Given the description of an element on the screen output the (x, y) to click on. 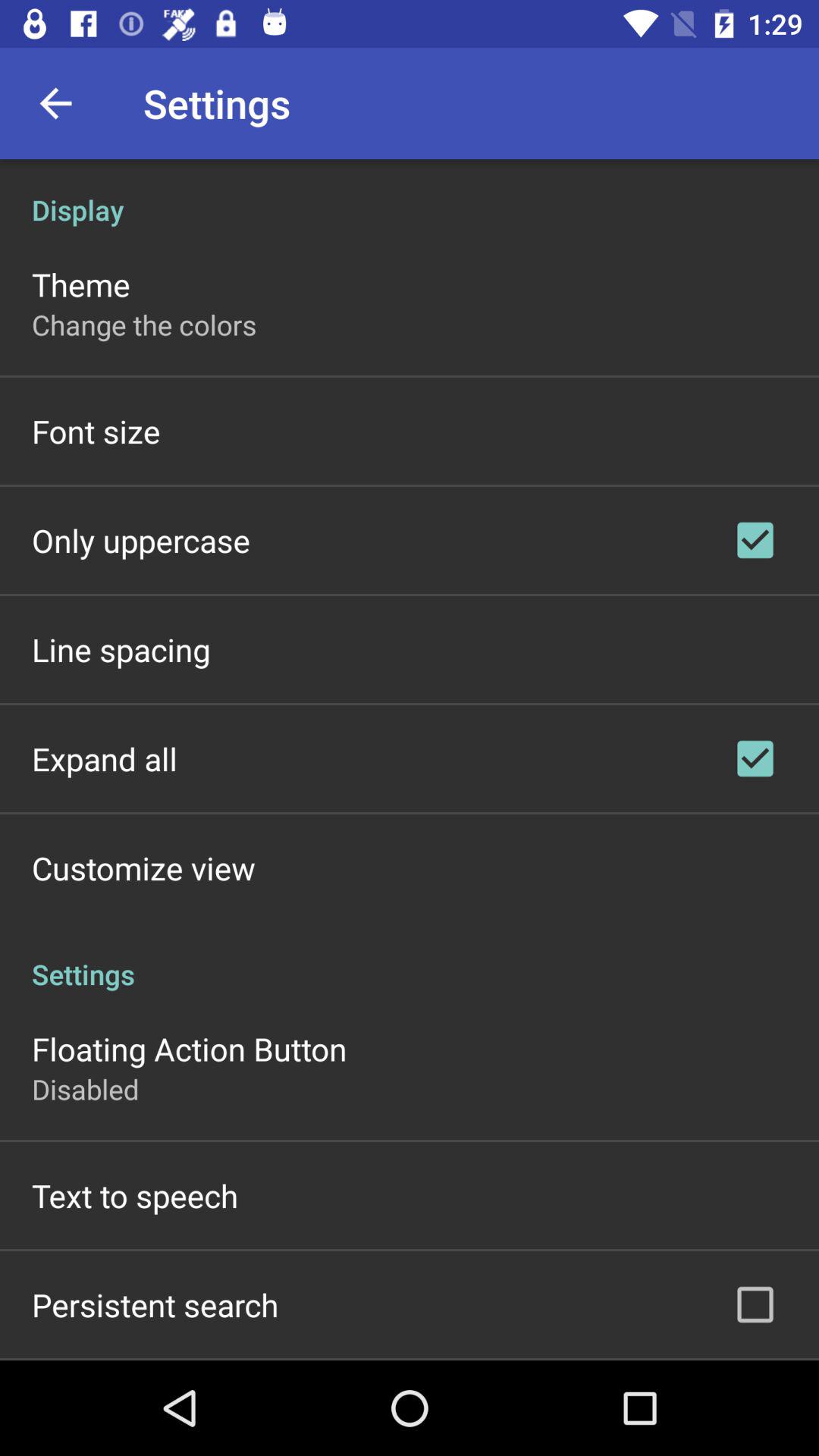
press customize view (143, 867)
